Given the description of an element on the screen output the (x, y) to click on. 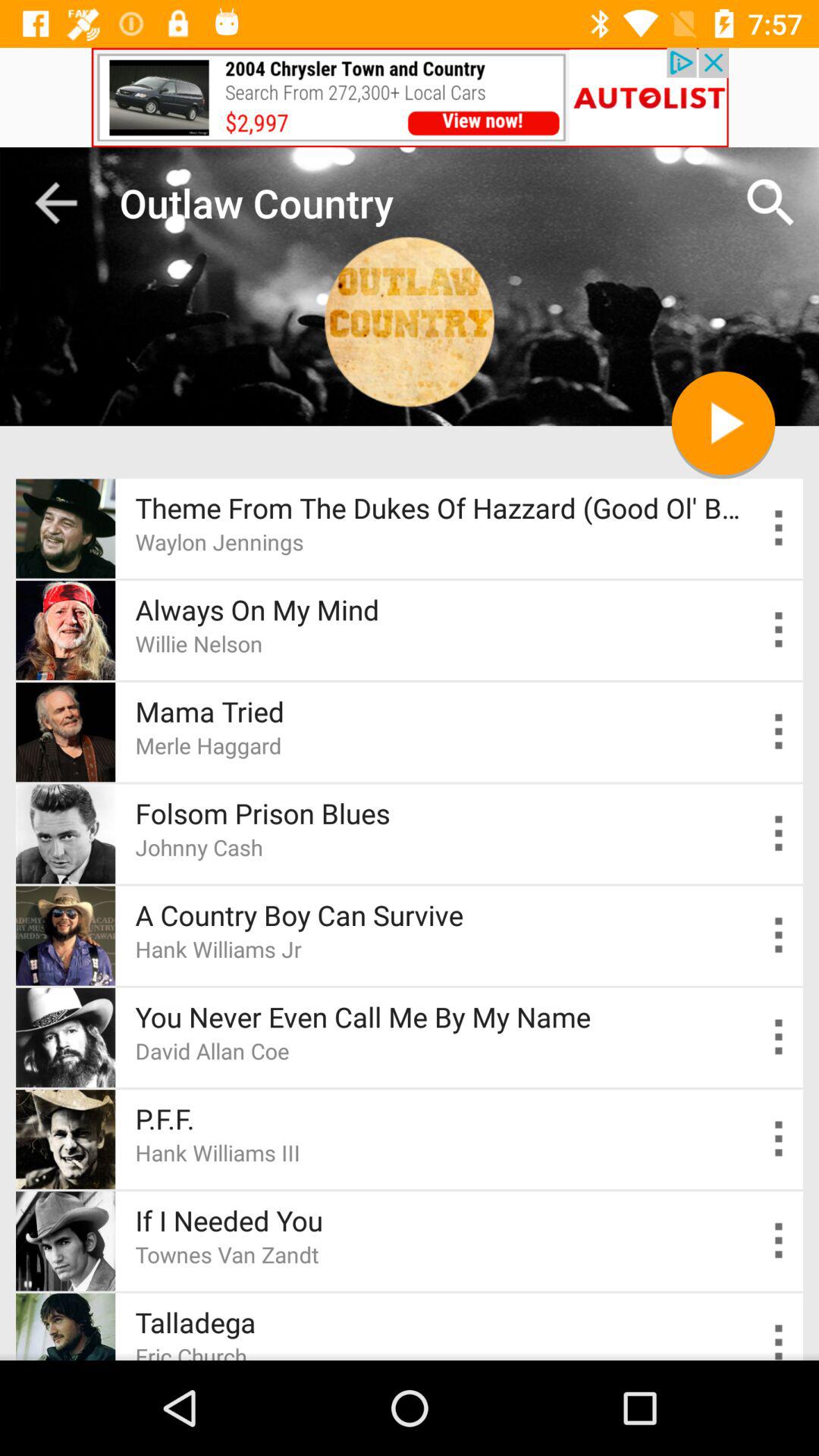
addition options for this song (779, 1037)
